Given the description of an element on the screen output the (x, y) to click on. 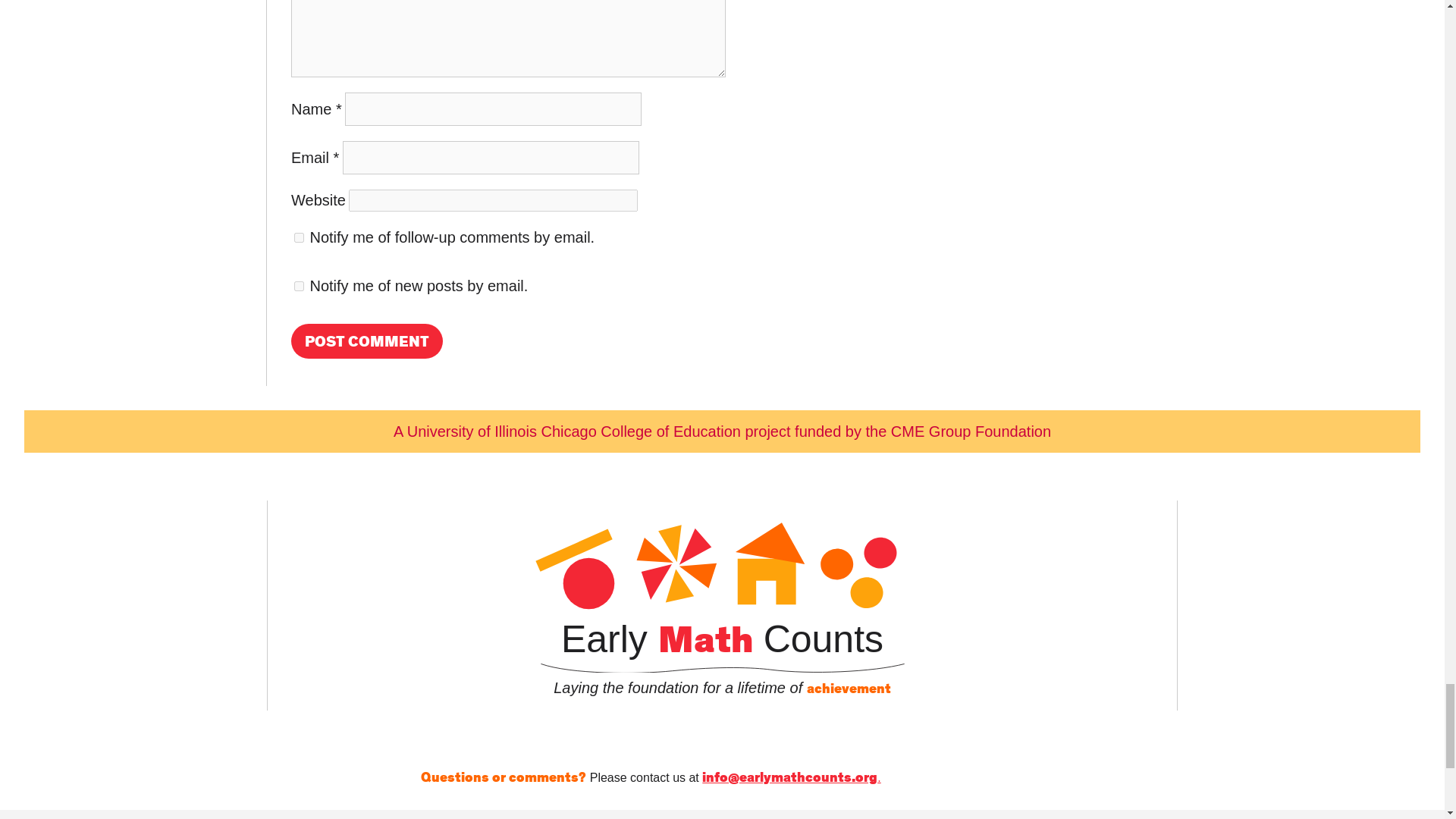
subscribe (299, 286)
Post Comment (366, 340)
subscribe (299, 237)
